Given the description of an element on the screen output the (x, y) to click on. 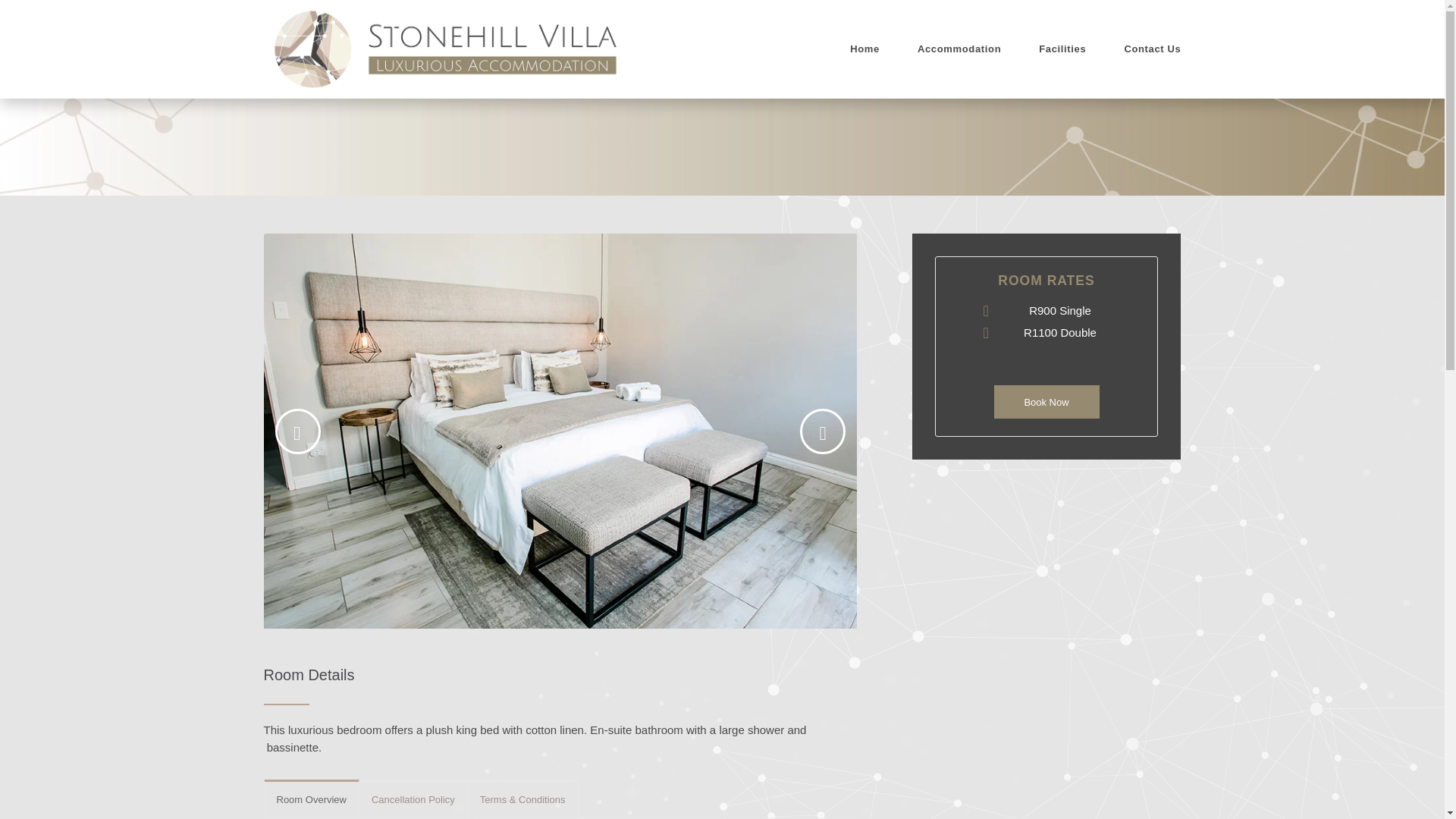
Accommodation (959, 49)
Previous (297, 430)
Next (822, 430)
Book Now (1045, 401)
